Given the description of an element on the screen output the (x, y) to click on. 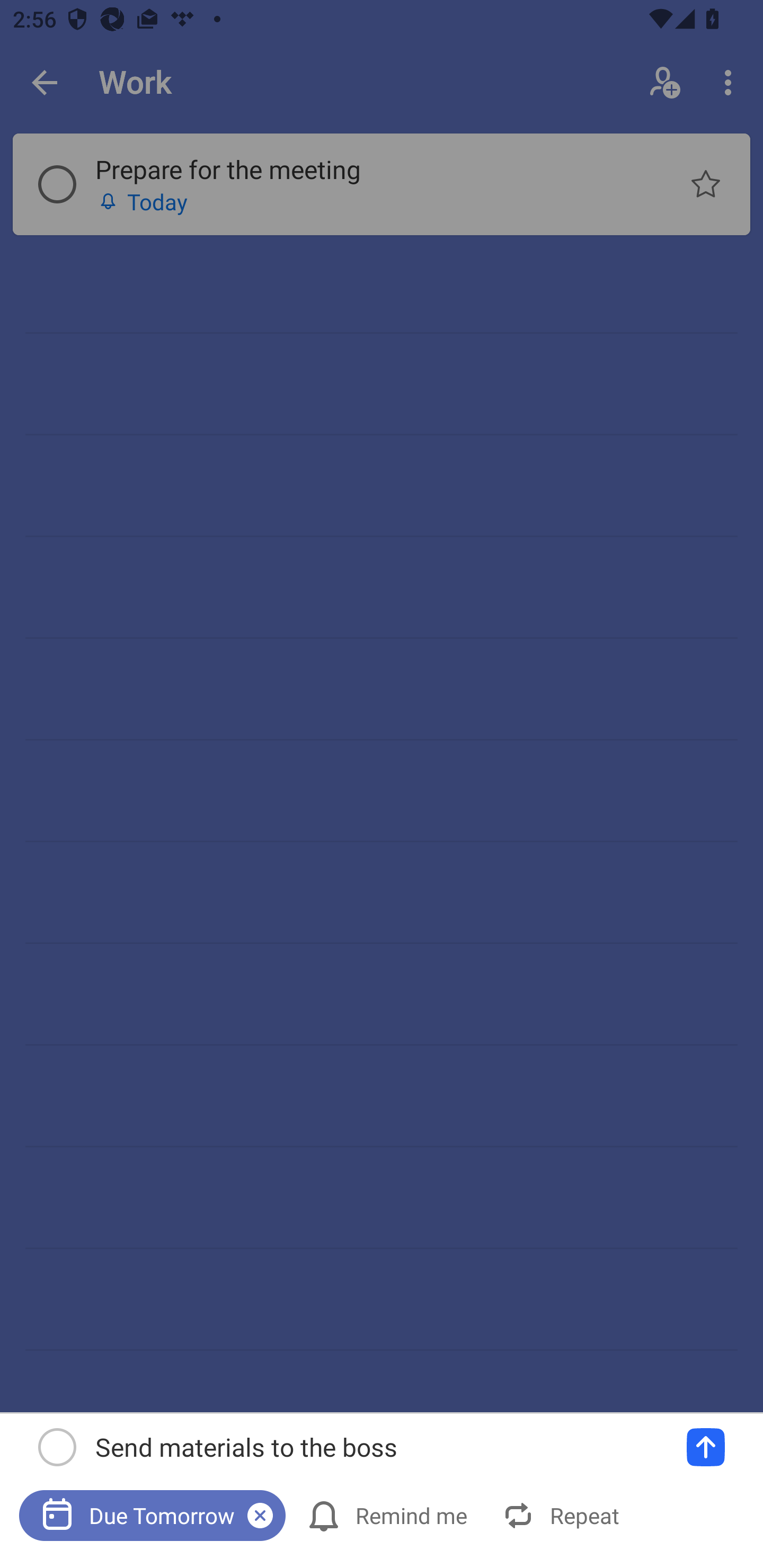
Add a task (705, 1446)
